Given the description of an element on the screen output the (x, y) to click on. 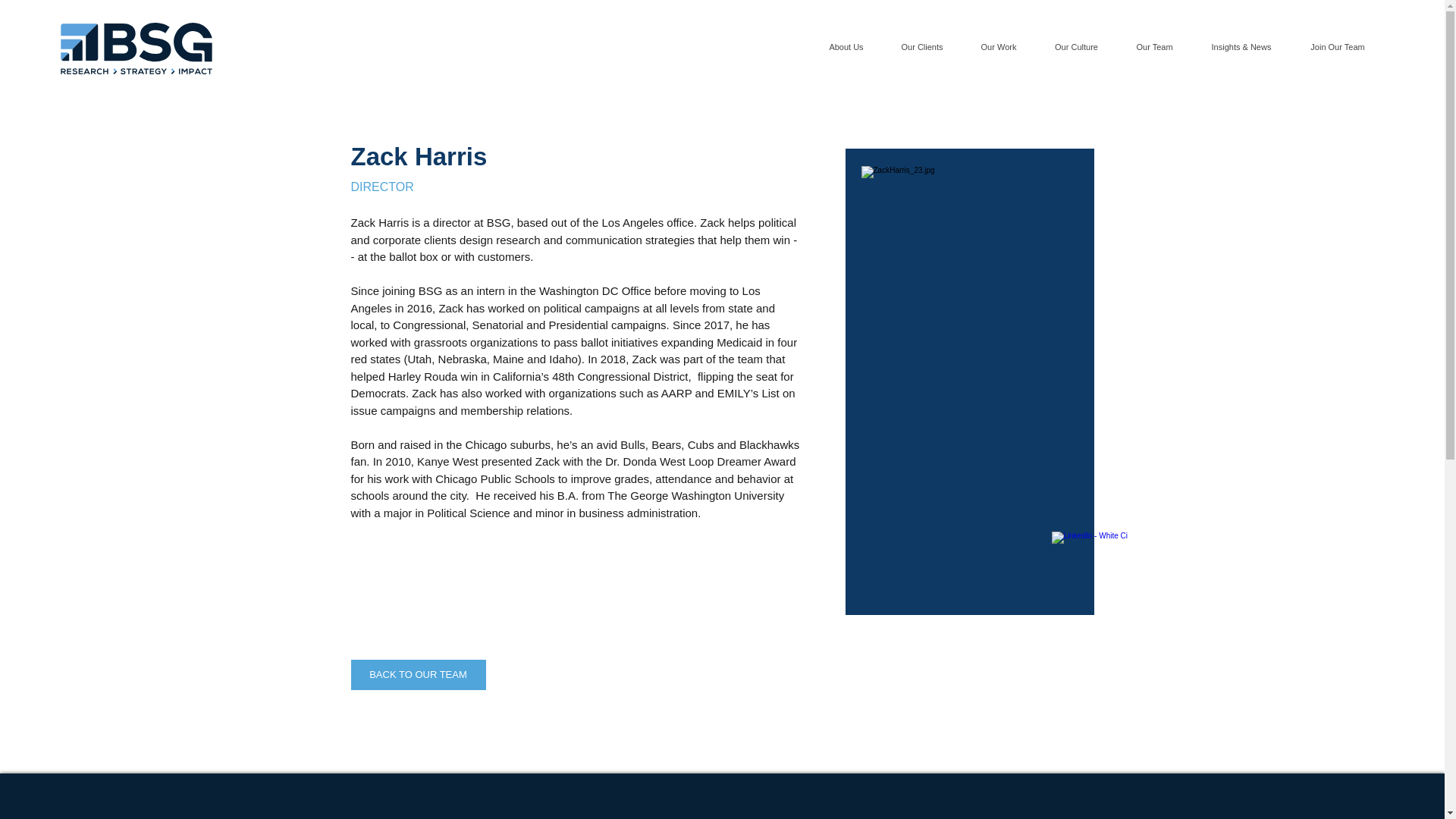
Our Team (1153, 47)
Our Culture (1075, 47)
Join Our Team (1337, 47)
BACK TO OUR TEAM (417, 675)
Our Work (997, 47)
About Us (846, 47)
Our Clients (921, 47)
